Given the description of an element on the screen output the (x, y) to click on. 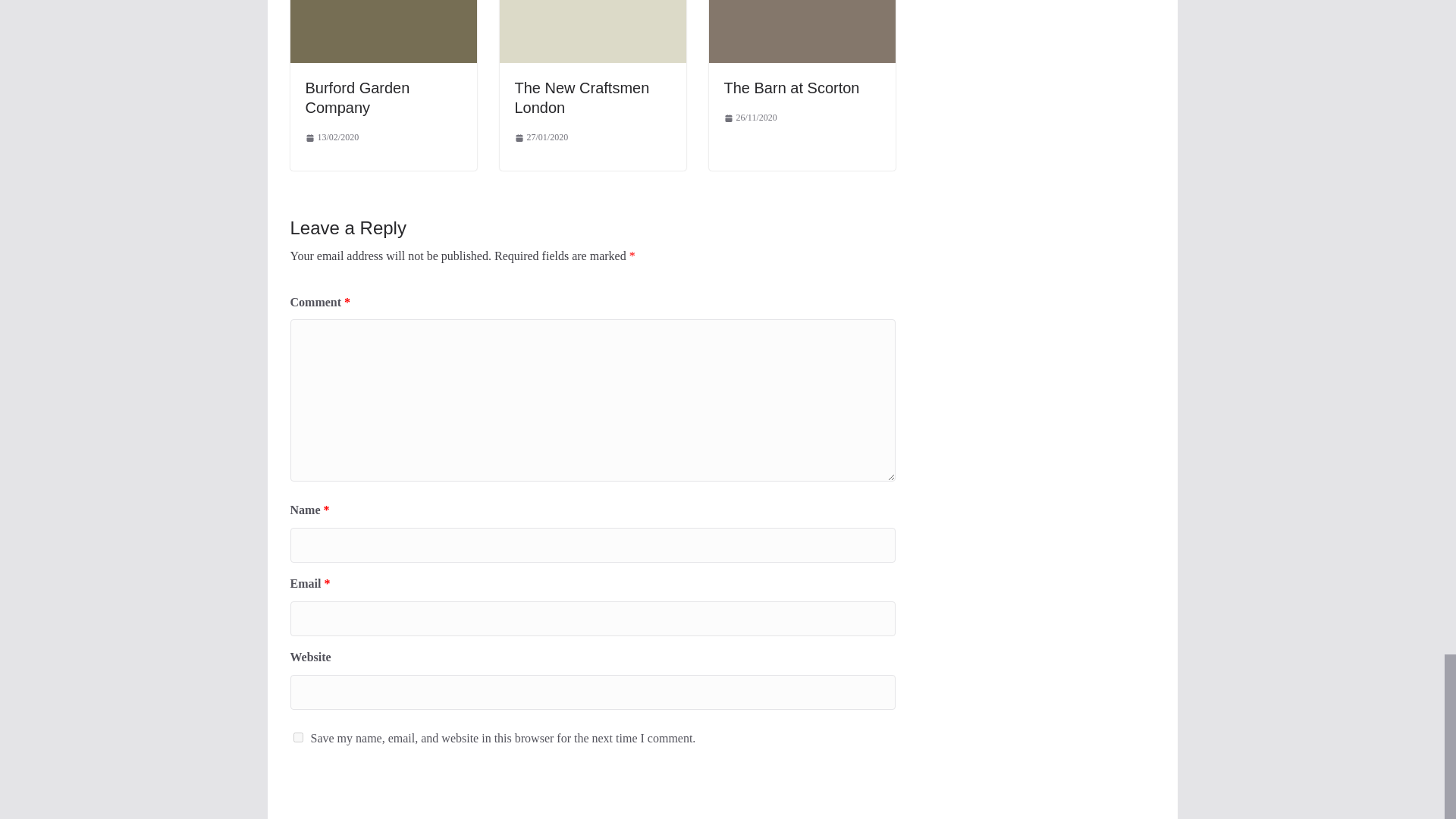
The Barn at Scorton (791, 87)
Burford Garden Company (356, 97)
yes (297, 737)
The New Craftsmen London (581, 97)
Burford Garden Company (356, 97)
03:23 (331, 137)
03:21 (540, 137)
The New Craftsmen London (581, 97)
